Given the description of an element on the screen output the (x, y) to click on. 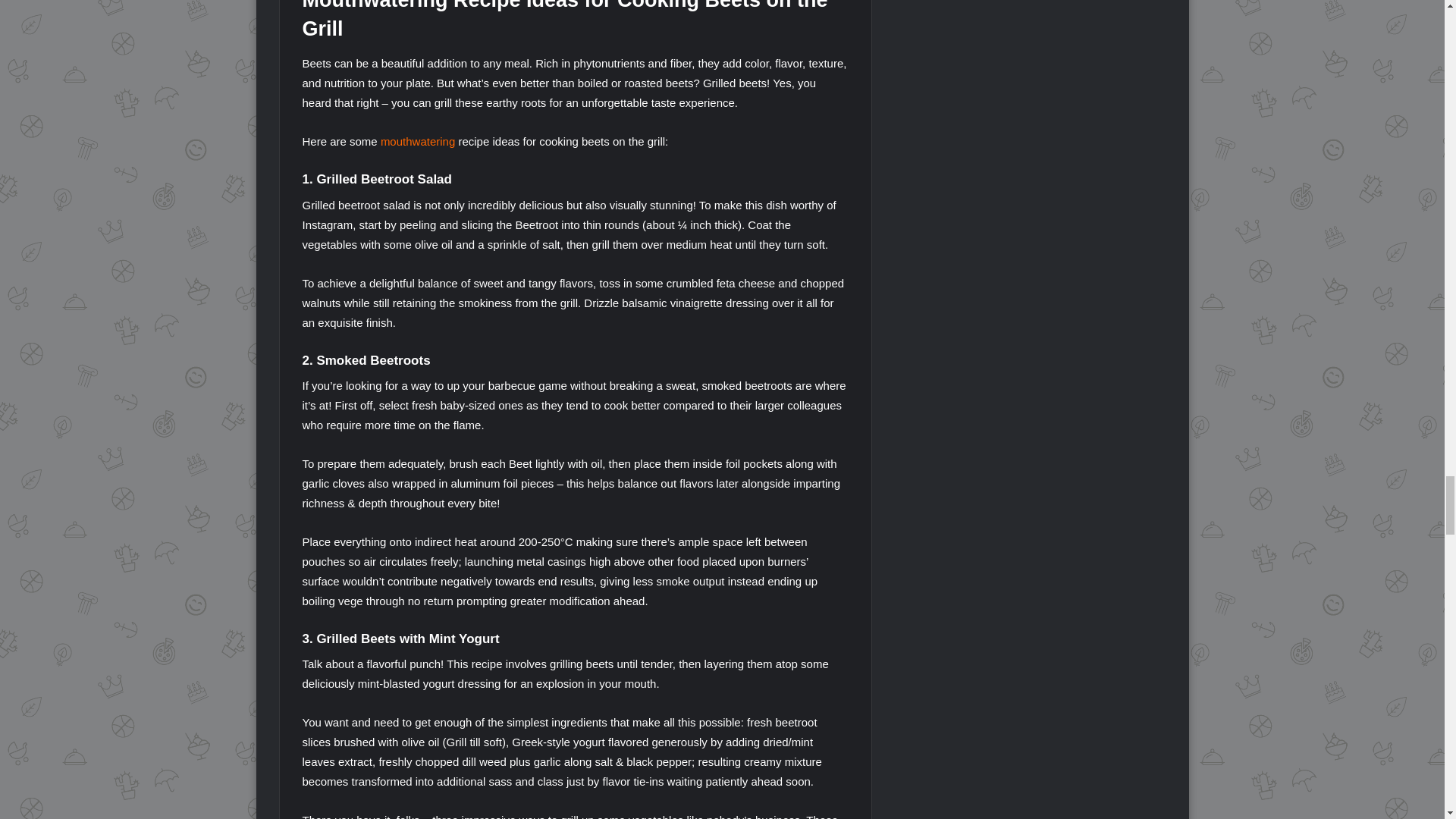
mouthwatering (417, 141)
